Given the description of an element on the screen output the (x, y) to click on. 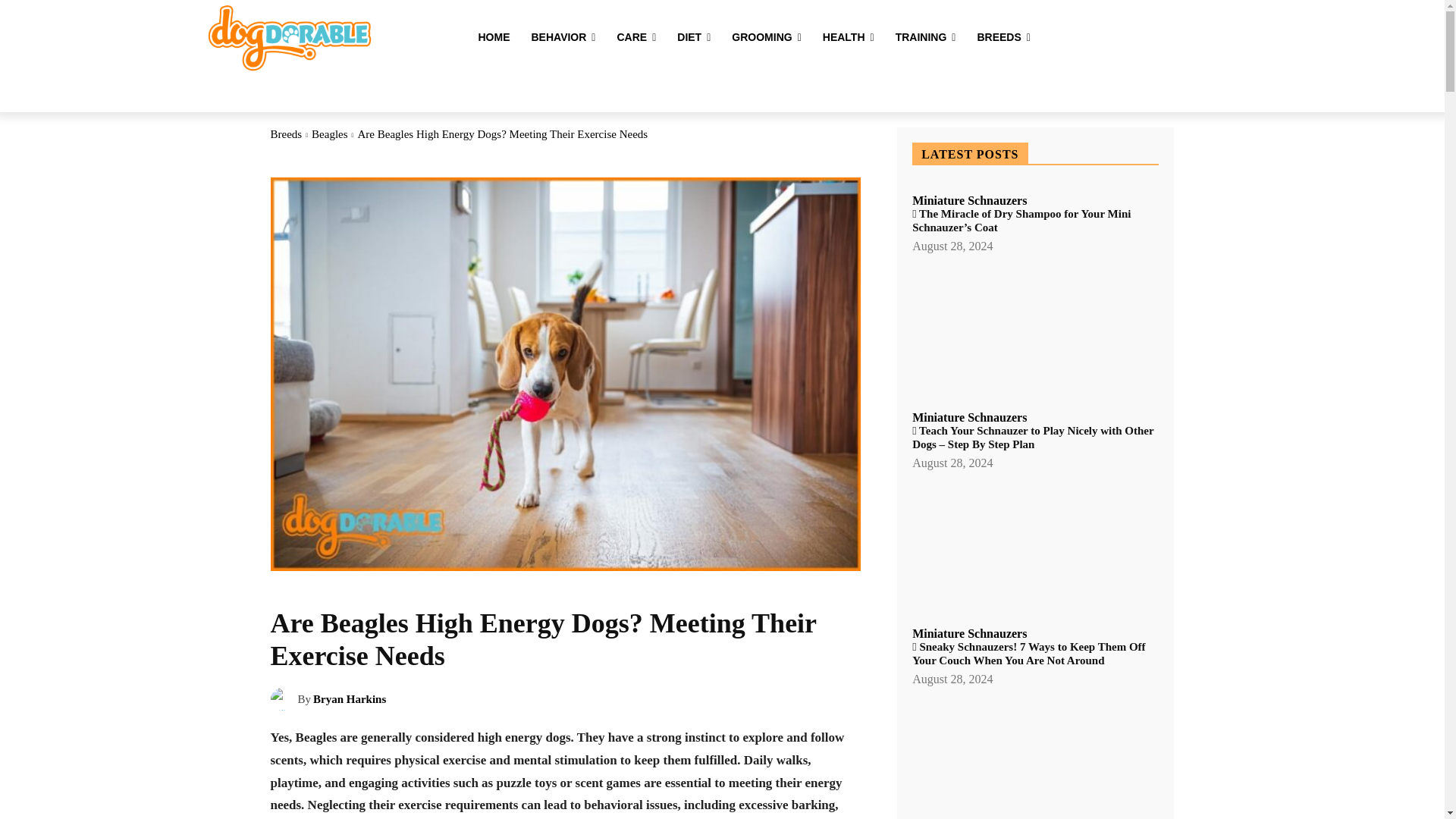
View all posts in Breeds (285, 133)
Bryan Harkins (283, 698)
View all posts in Beagles (329, 133)
